Given the description of an element on the screen output the (x, y) to click on. 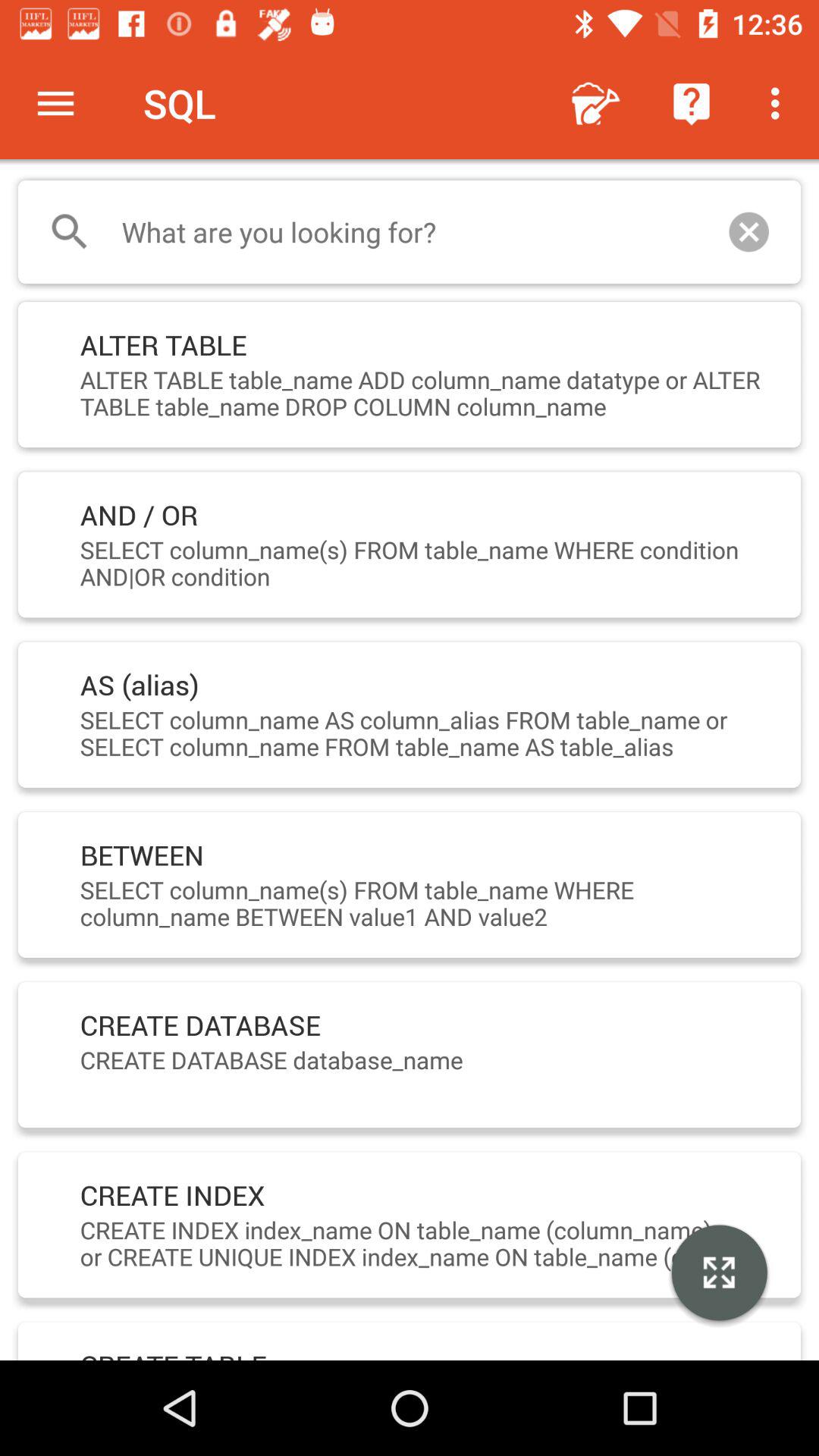
select item above alter table icon (409, 231)
